Given the description of an element on the screen output the (x, y) to click on. 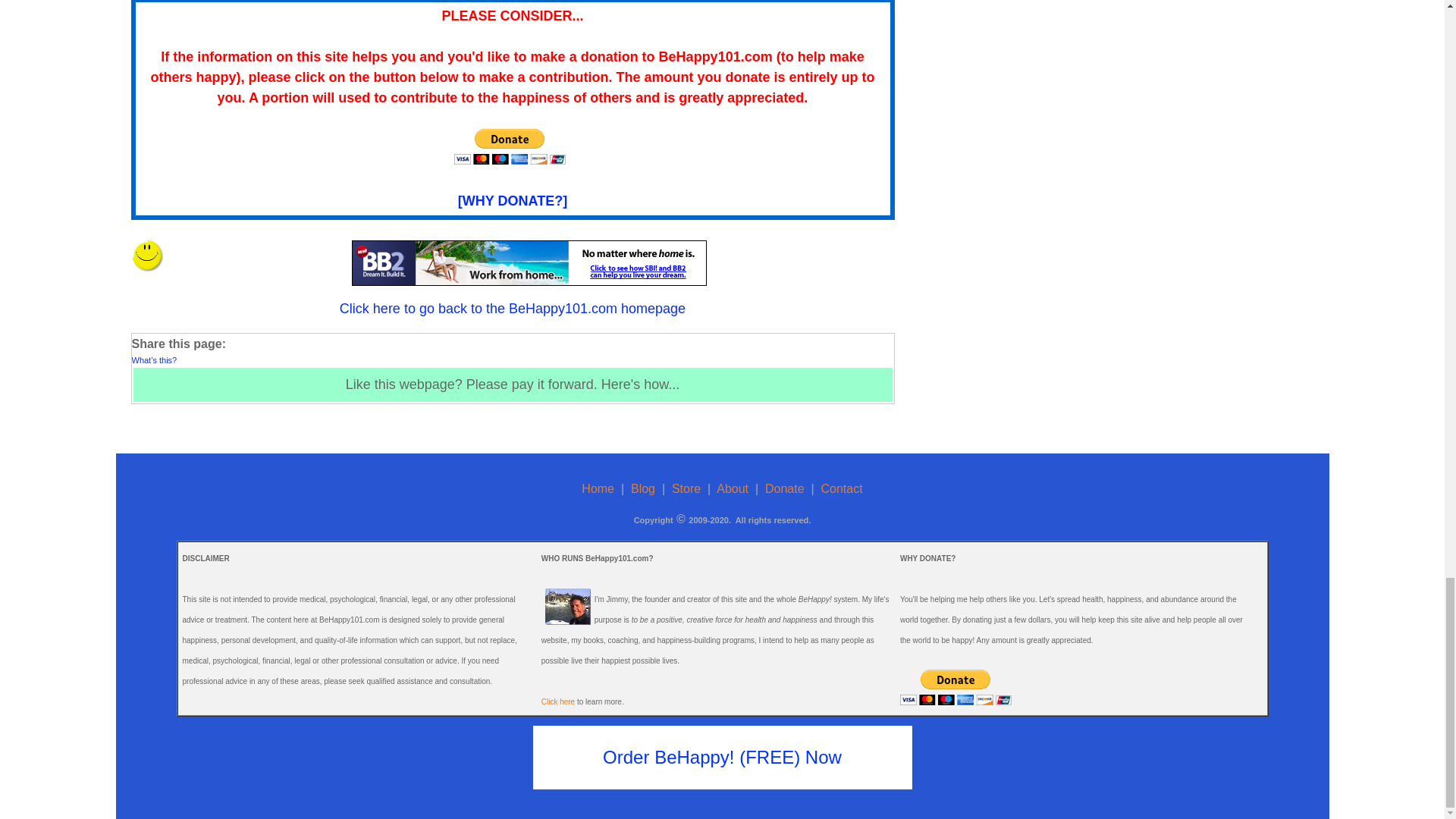
Click here (558, 701)
Home (597, 488)
Click here to go back to the BeHappy101.com homepage (512, 308)
About (732, 488)
Blog (642, 488)
Contact (842, 488)
Store (685, 488)
Donate (785, 488)
